Given the description of an element on the screen output the (x, y) to click on. 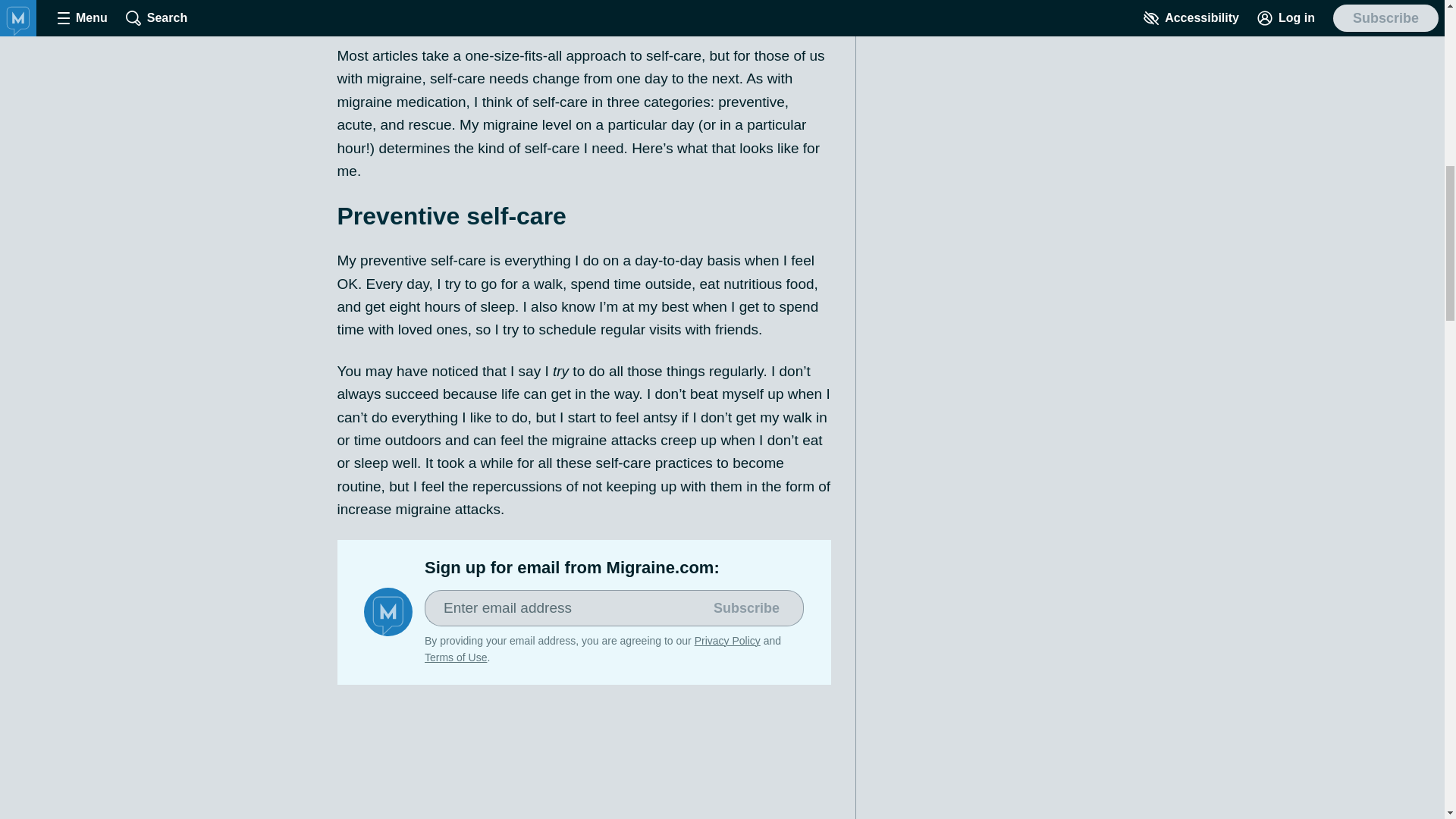
Privacy Policy (727, 640)
Subscribe (746, 607)
Terms of Use (455, 657)
